Given the description of an element on the screen output the (x, y) to click on. 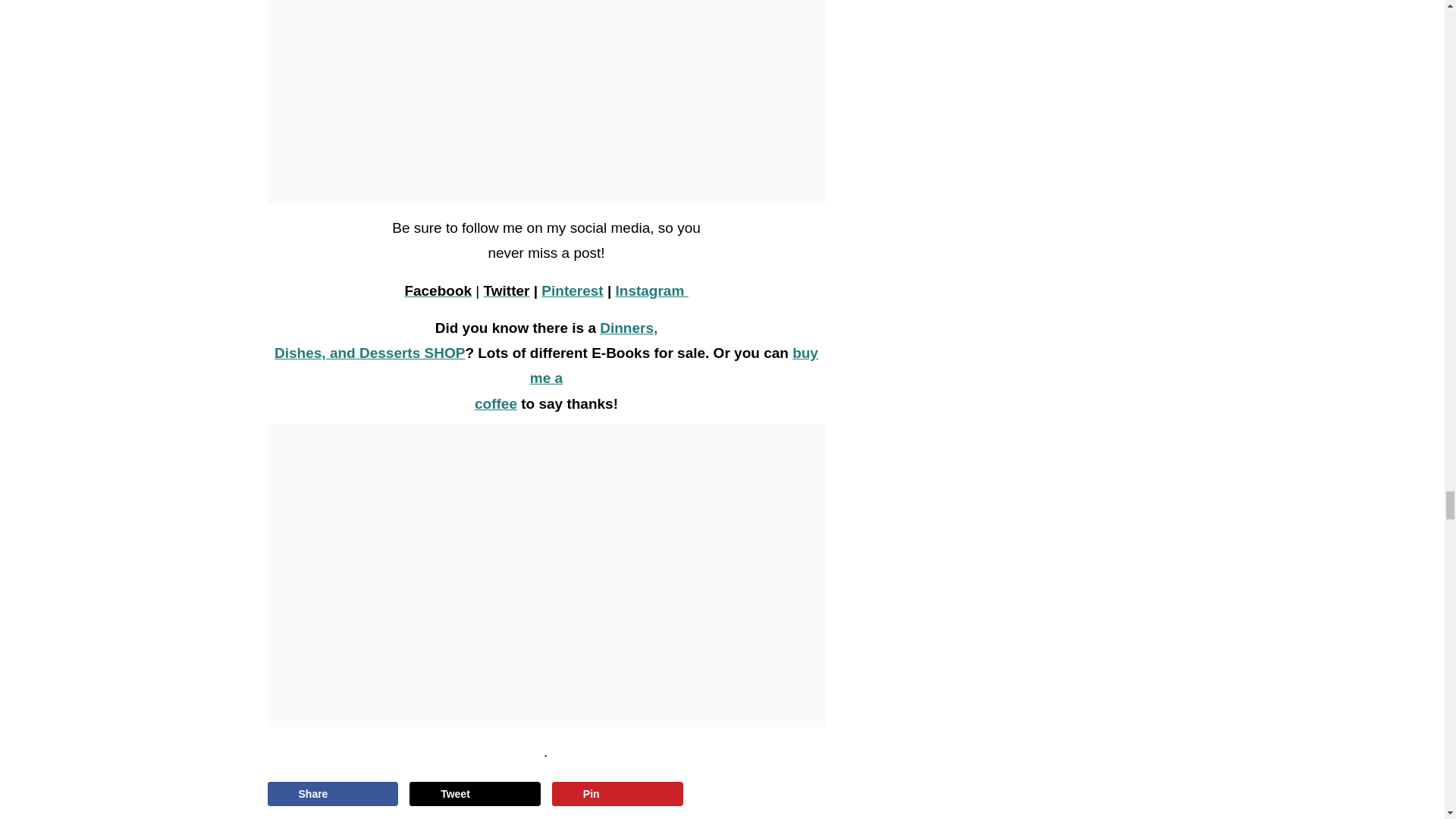
Share on Facebook (331, 793)
Save to Pinterest (616, 793)
Share on X (474, 793)
